Given the description of an element on the screen output the (x, y) to click on. 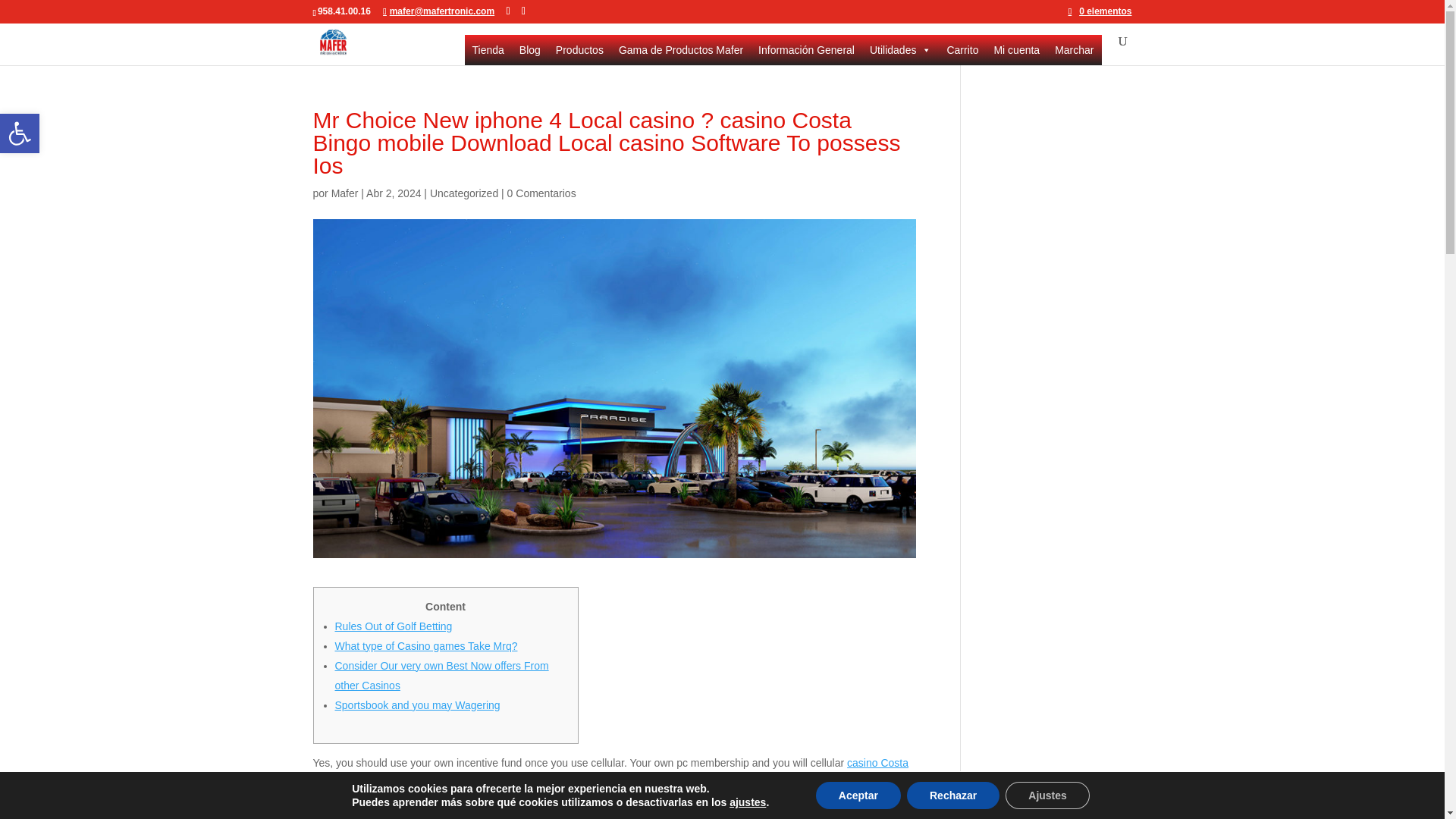
Blog (530, 50)
Tienda (488, 50)
Mafer (344, 193)
Carrito (962, 50)
Marchar (1073, 50)
0 Comentarios (541, 193)
What type of Casino games Take Mrq? (426, 645)
